Given the description of an element on the screen output the (x, y) to click on. 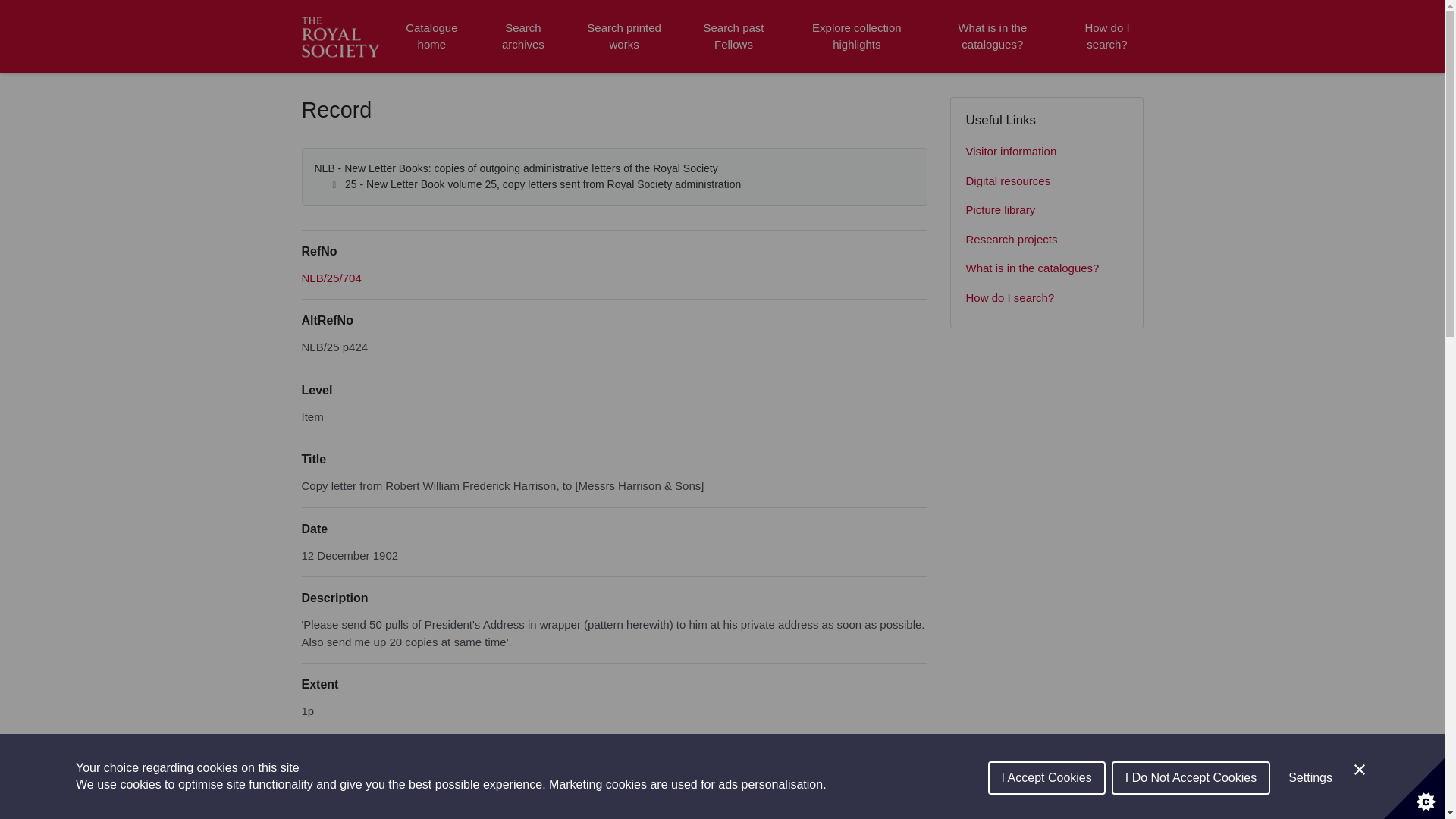
Explore collection highlights (856, 36)
Browse record in hierarchy. (331, 277)
Picture library (1046, 210)
Search archives (522, 36)
Search past Fellows (732, 36)
What is in the catalogues? (991, 36)
Homepage (343, 36)
Search printed works (624, 36)
How do I search? (1046, 297)
